Given the description of an element on the screen output the (x, y) to click on. 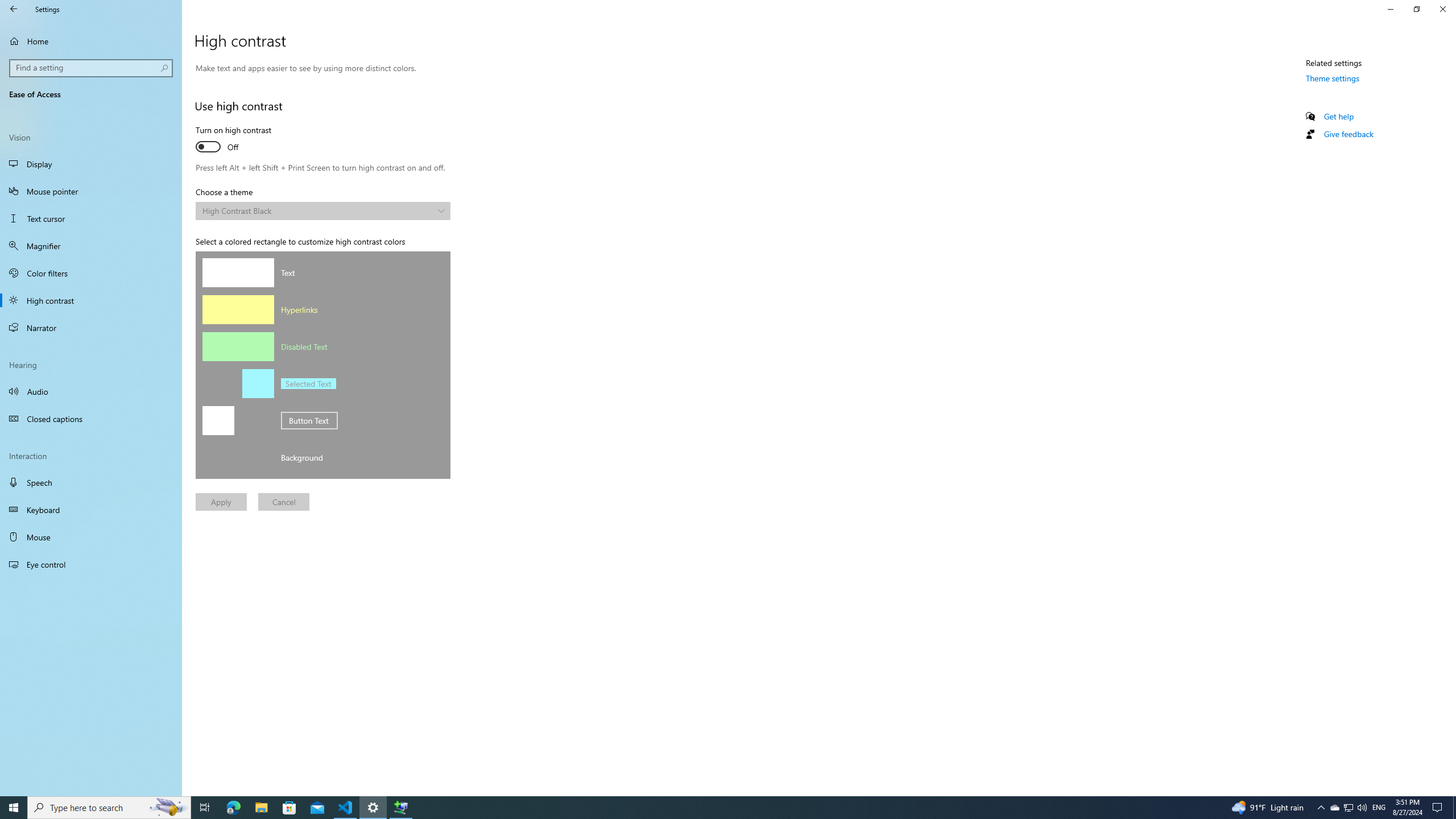
Search box, Find a setting (91, 67)
Show desktop (1454, 807)
High contrast theme (322, 211)
High Contrast Black (1333, 807)
Settings - 1 running window (317, 210)
Narrator (373, 807)
Action Center, No new notifications (91, 327)
Tray Input Indicator - English (United States) (1439, 807)
Start (1378, 807)
Audio (13, 807)
Home (91, 390)
Extensible Wizards Host Process - 1 running window (91, 40)
